Given the description of an element on the screen output the (x, y) to click on. 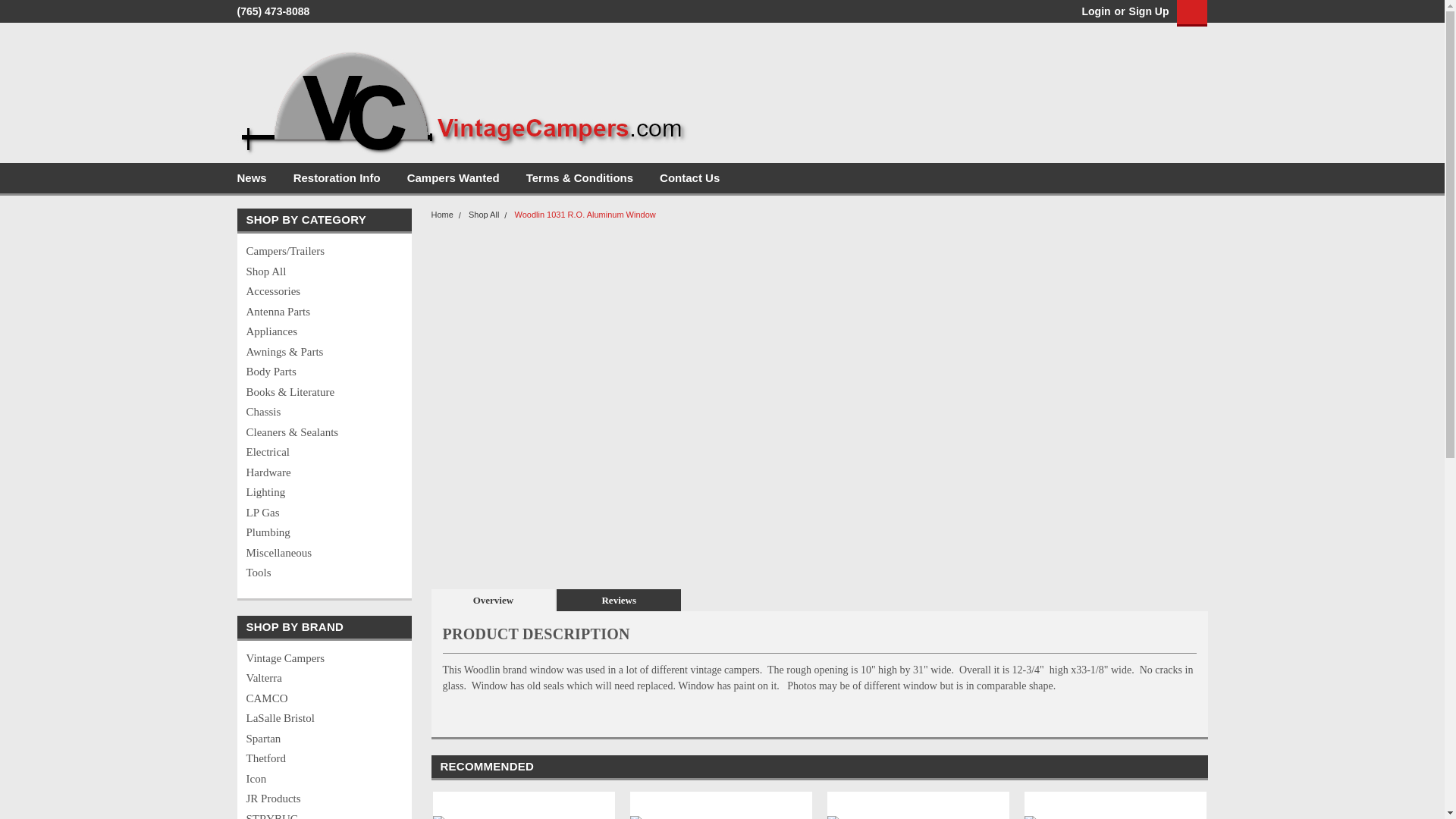
Sign Up (1147, 11)
Login (1095, 11)
VintageCampers.com (463, 94)
